Given the description of an element on the screen output the (x, y) to click on. 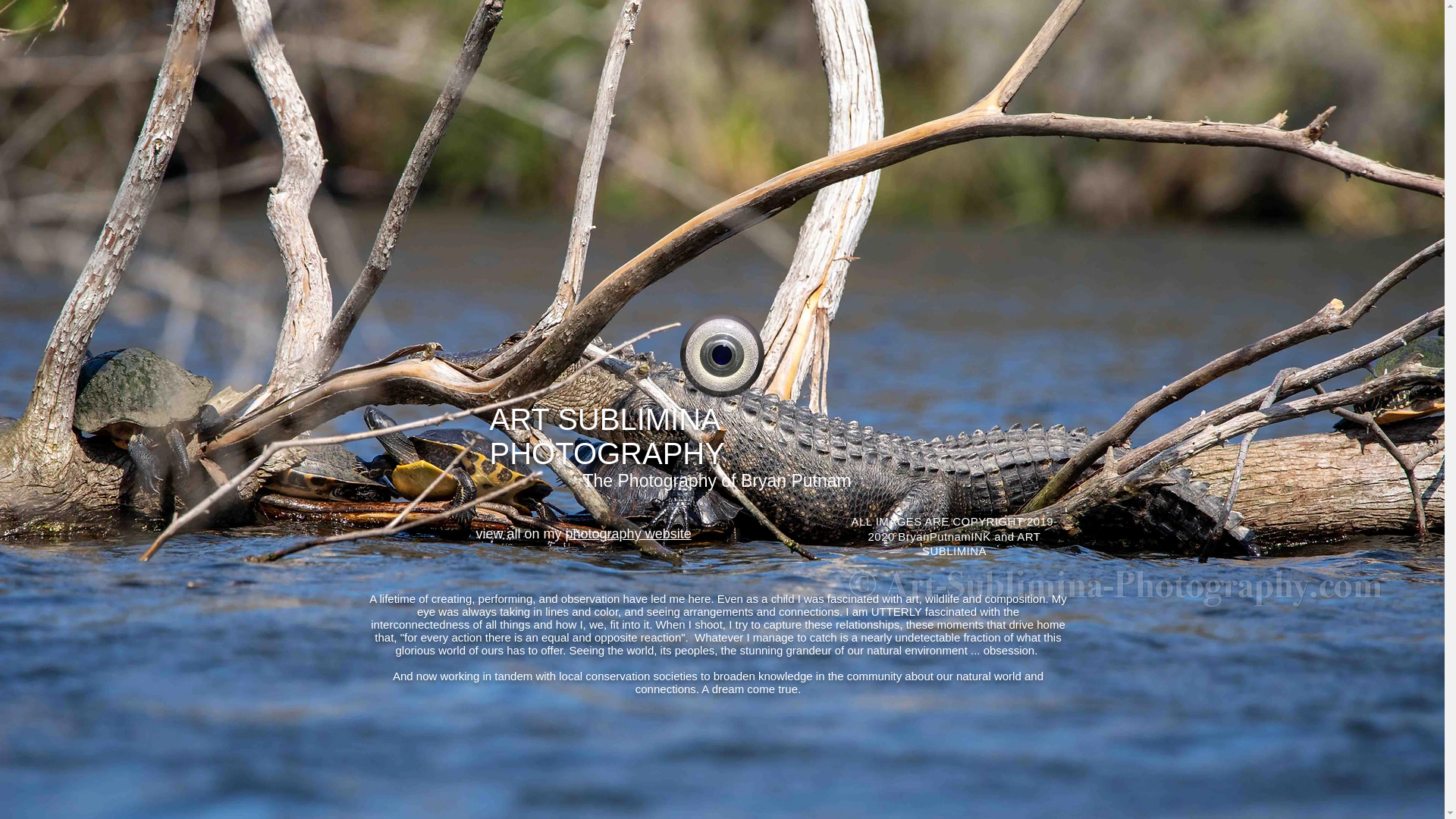
photography website (628, 533)
